Given the description of an element on the screen output the (x, y) to click on. 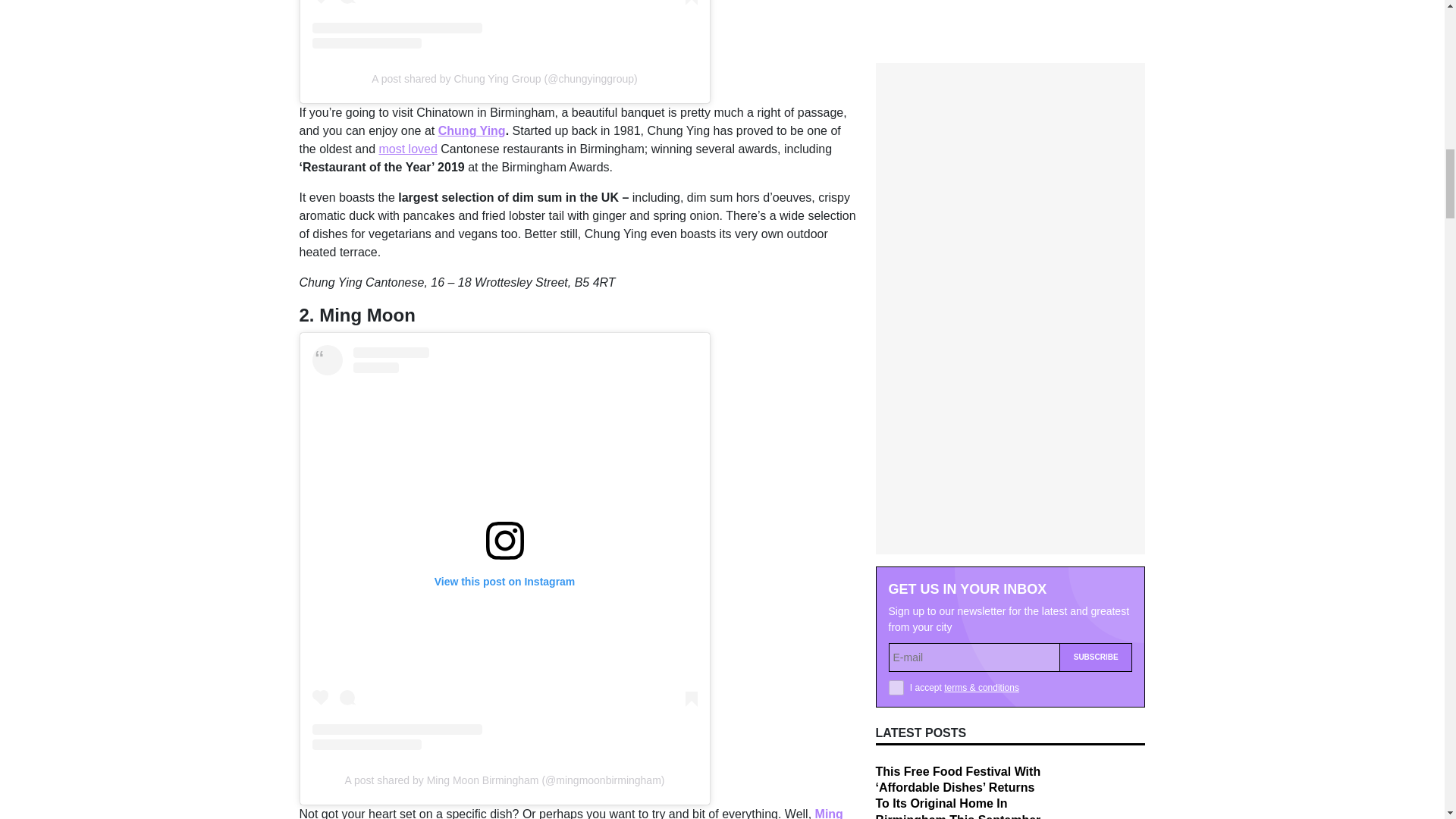
View this post on Instagram (505, 24)
Chung Ying (471, 130)
Ming Moon (570, 813)
most loved (407, 148)
